Given the description of an element on the screen output the (x, y) to click on. 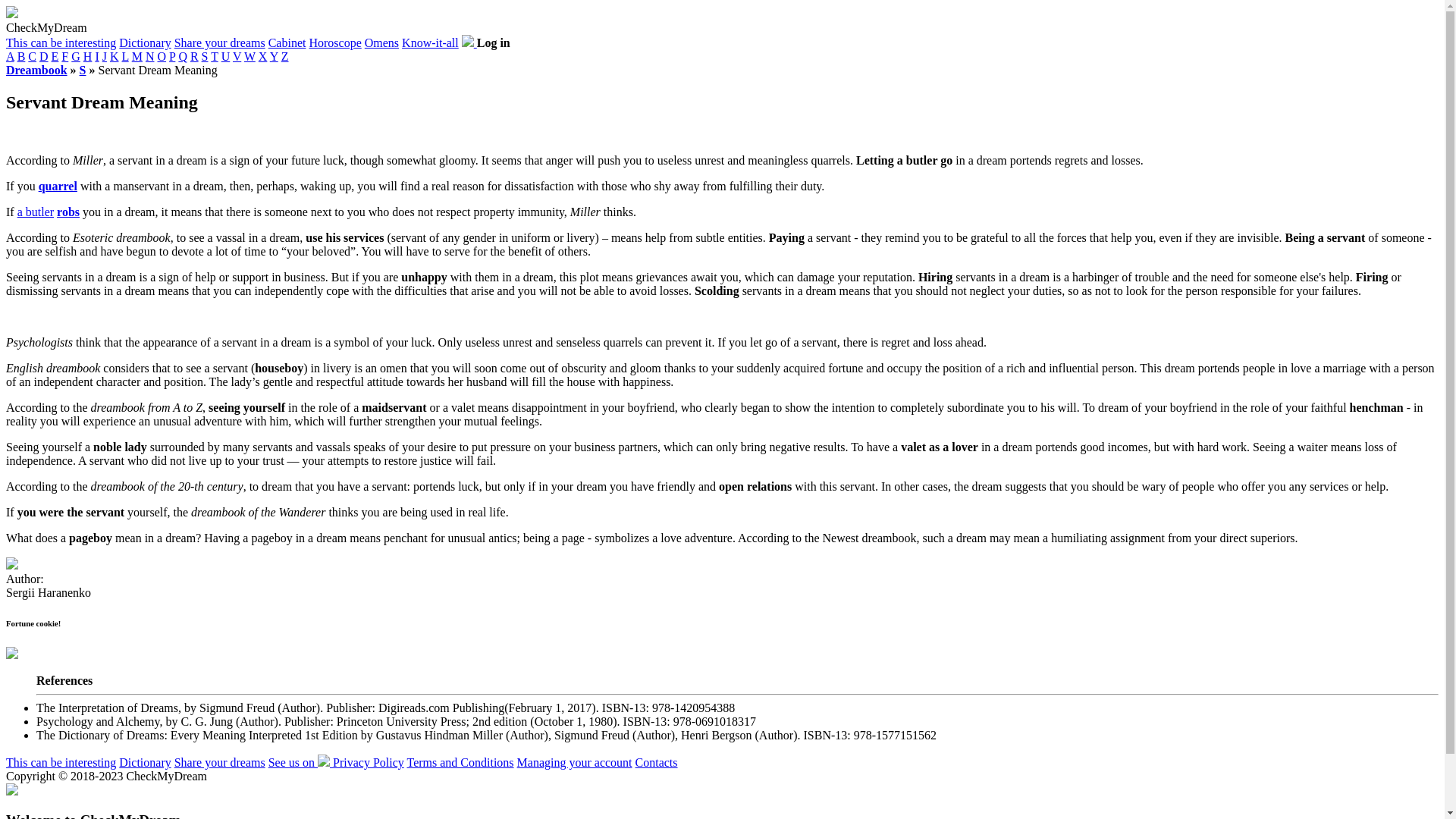
robs (68, 211)
This can be interesting (60, 42)
Know-it-all (429, 42)
Omens (381, 42)
quarrel (58, 185)
Share your dreams (219, 42)
Dreambook (35, 69)
Dictionary (144, 42)
a butler (35, 211)
Horoscope (334, 42)
